Given the description of an element on the screen output the (x, y) to click on. 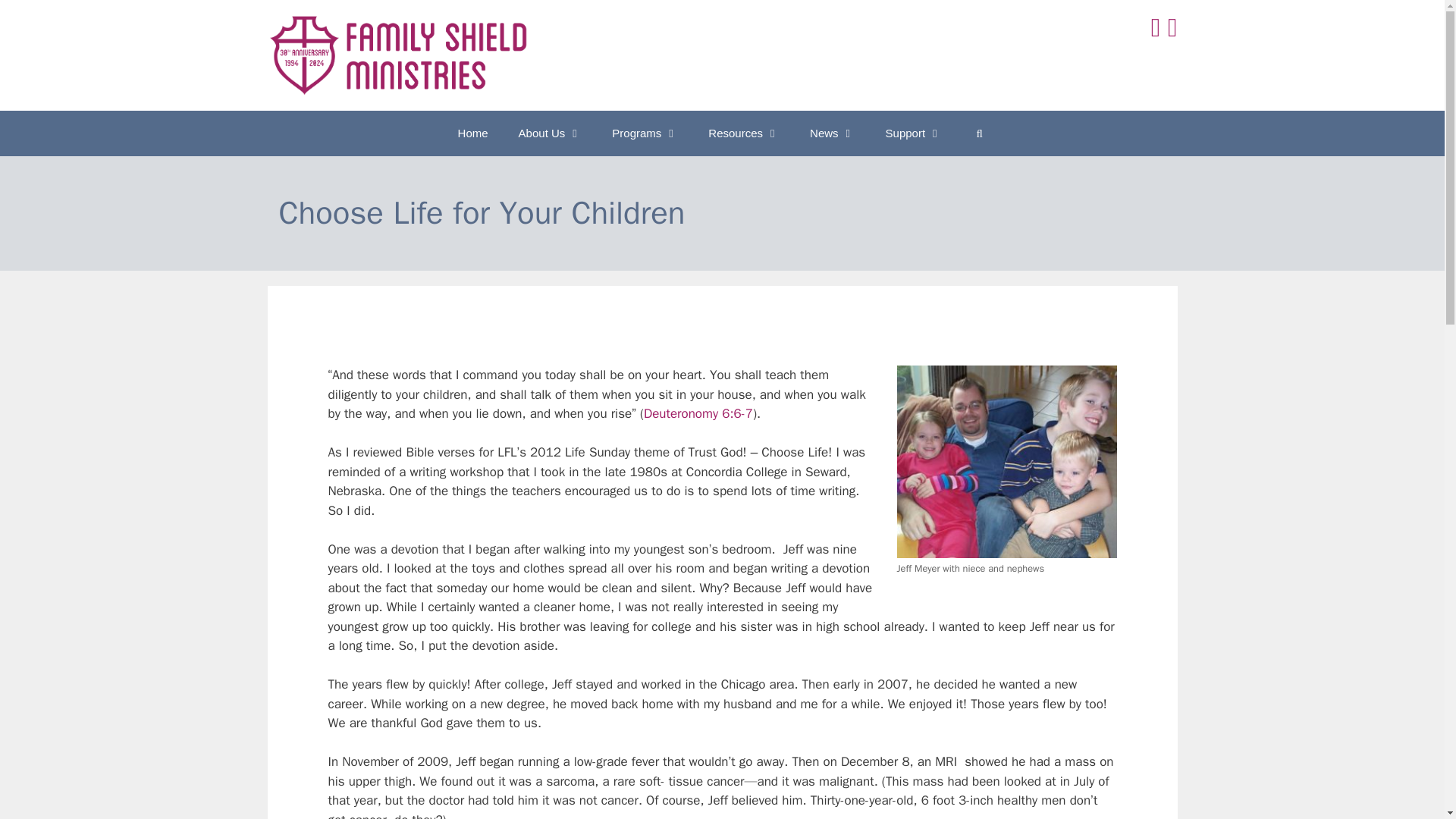
Programs (644, 133)
Resources (743, 133)
News (832, 133)
Home (472, 133)
About Us (549, 133)
